Given the description of an element on the screen output the (x, y) to click on. 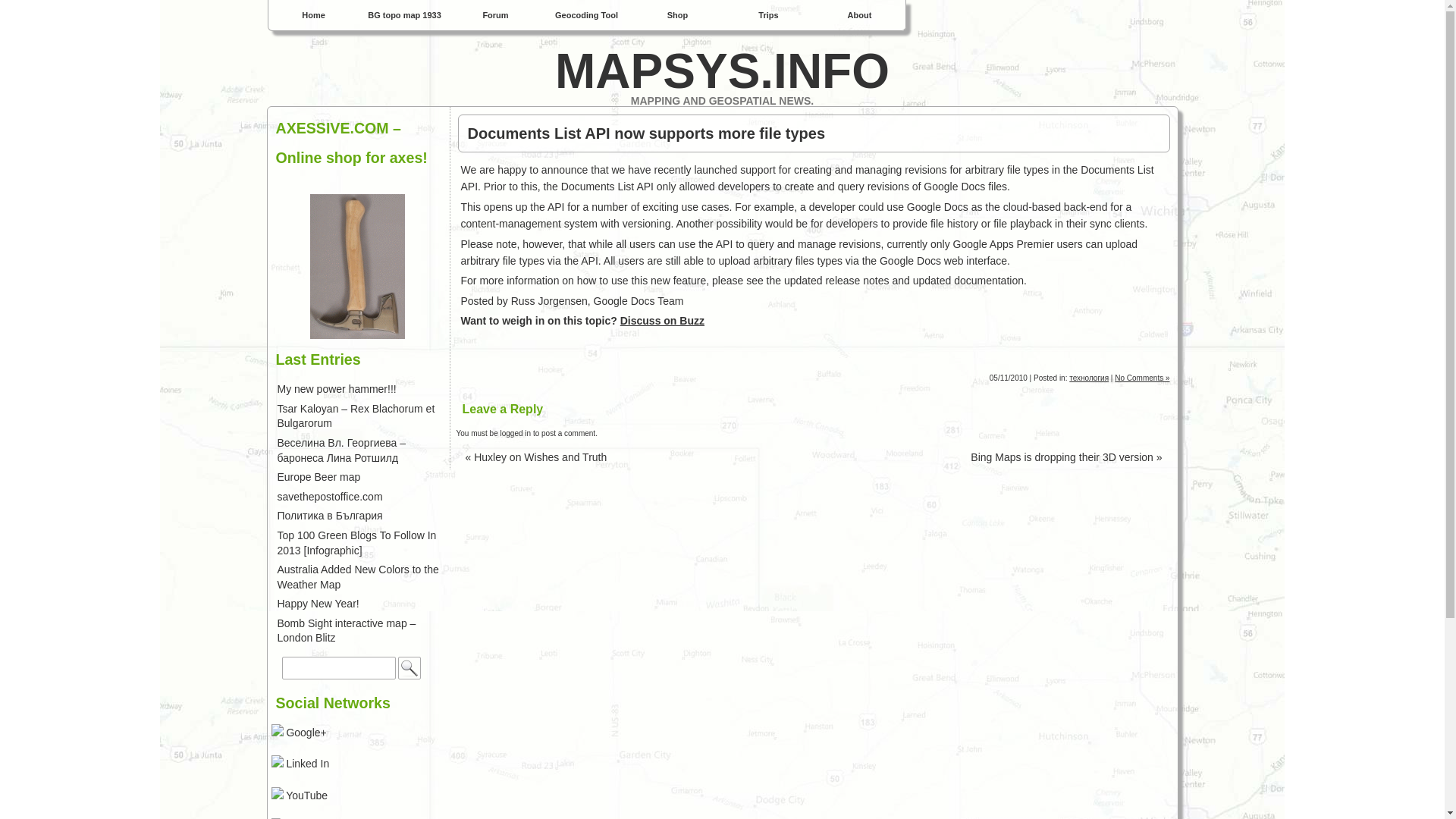
YouTube (299, 795)
savethepostoffice.com (330, 496)
MAPSYS.INFO (721, 70)
Happy New Year! (318, 603)
Discuss on Buzz (662, 320)
Linked In (300, 763)
About (859, 15)
BG topo map 1933 (404, 15)
Geocoding Tool (586, 15)
Shop (677, 15)
logged in (515, 433)
Europe Beer map (319, 476)
My new power hammer!!! (337, 388)
Search (408, 667)
Documents List API now supports more file types (813, 133)
